Given the description of an element on the screen output the (x, y) to click on. 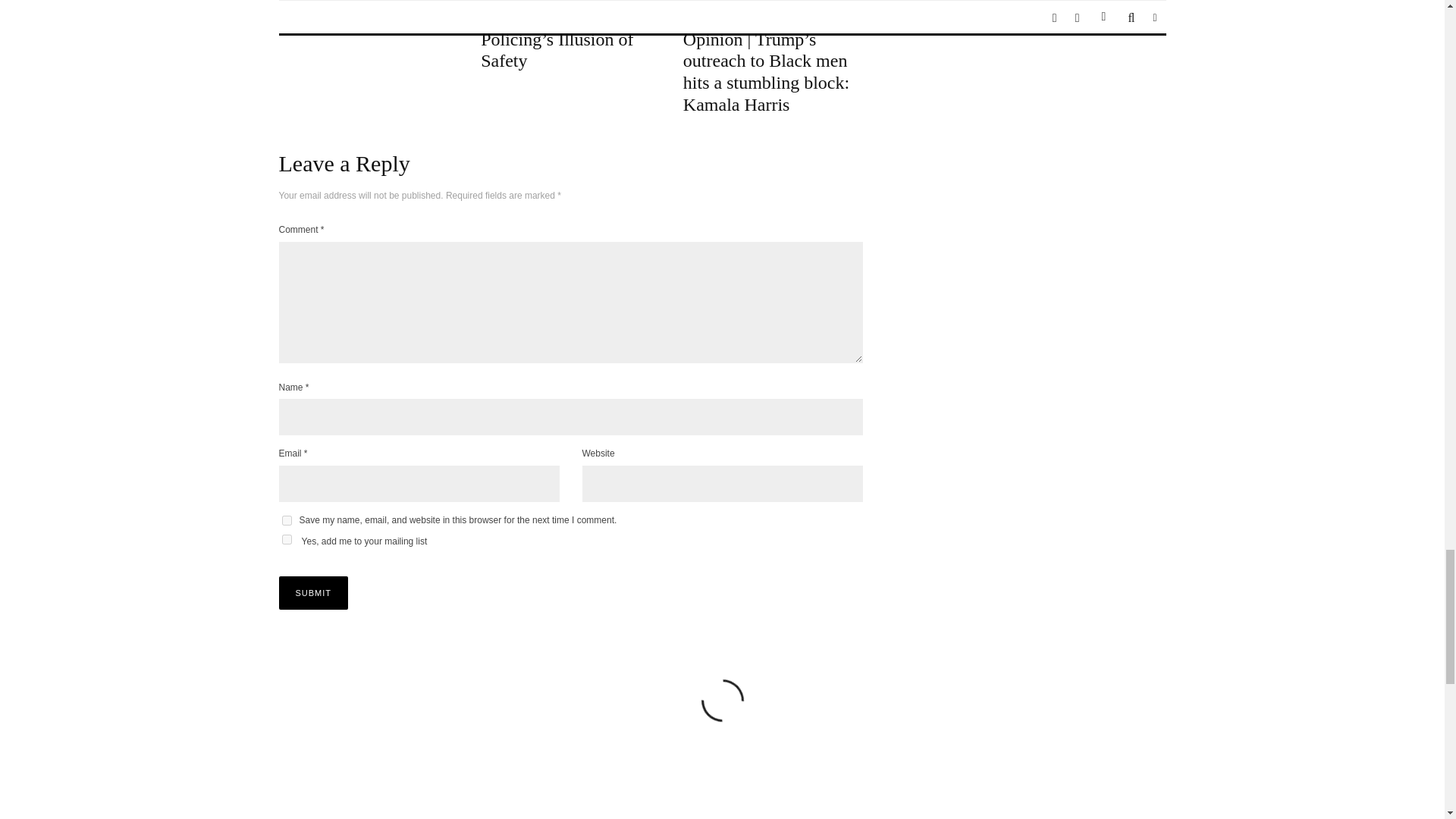
yes (287, 520)
Submit (314, 592)
1 (287, 539)
